Given the description of an element on the screen output the (x, y) to click on. 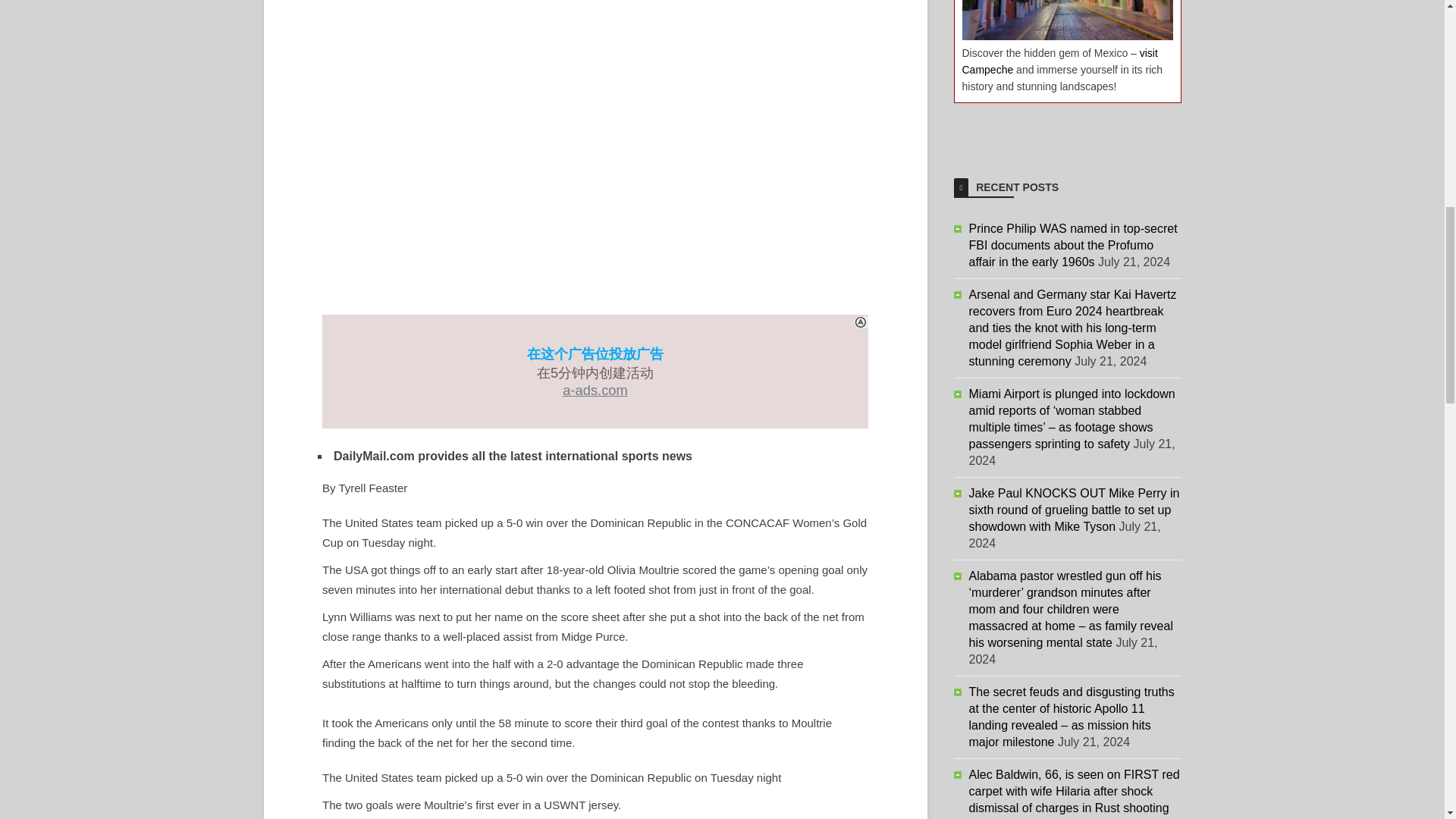
visit Campeche (1058, 61)
